Given the description of an element on the screen output the (x, y) to click on. 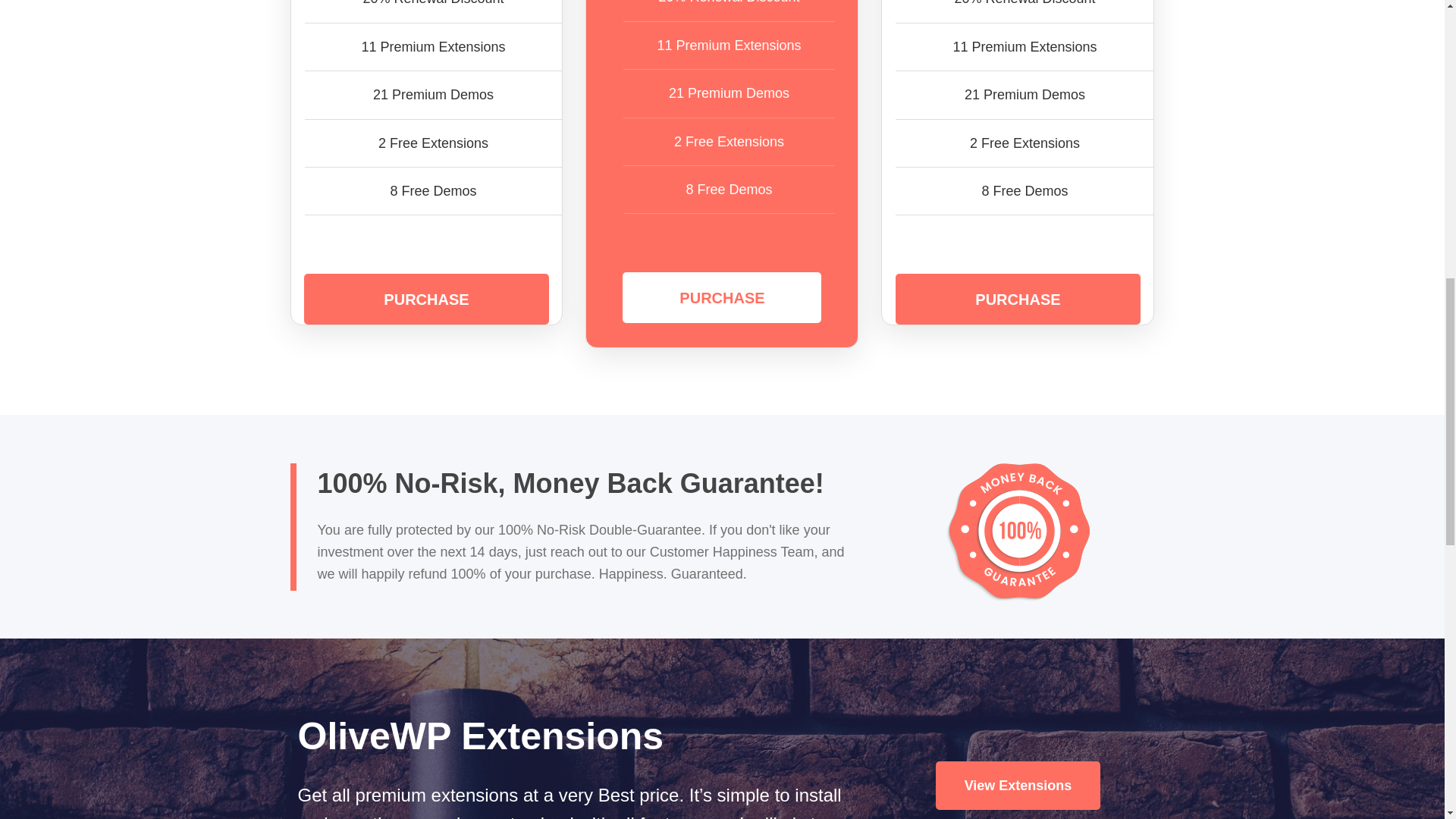
PURCHASE (1017, 298)
PURCHASE (426, 298)
View Extensions (1018, 785)
PURCHASE (722, 296)
